Given the description of an element on the screen output the (x, y) to click on. 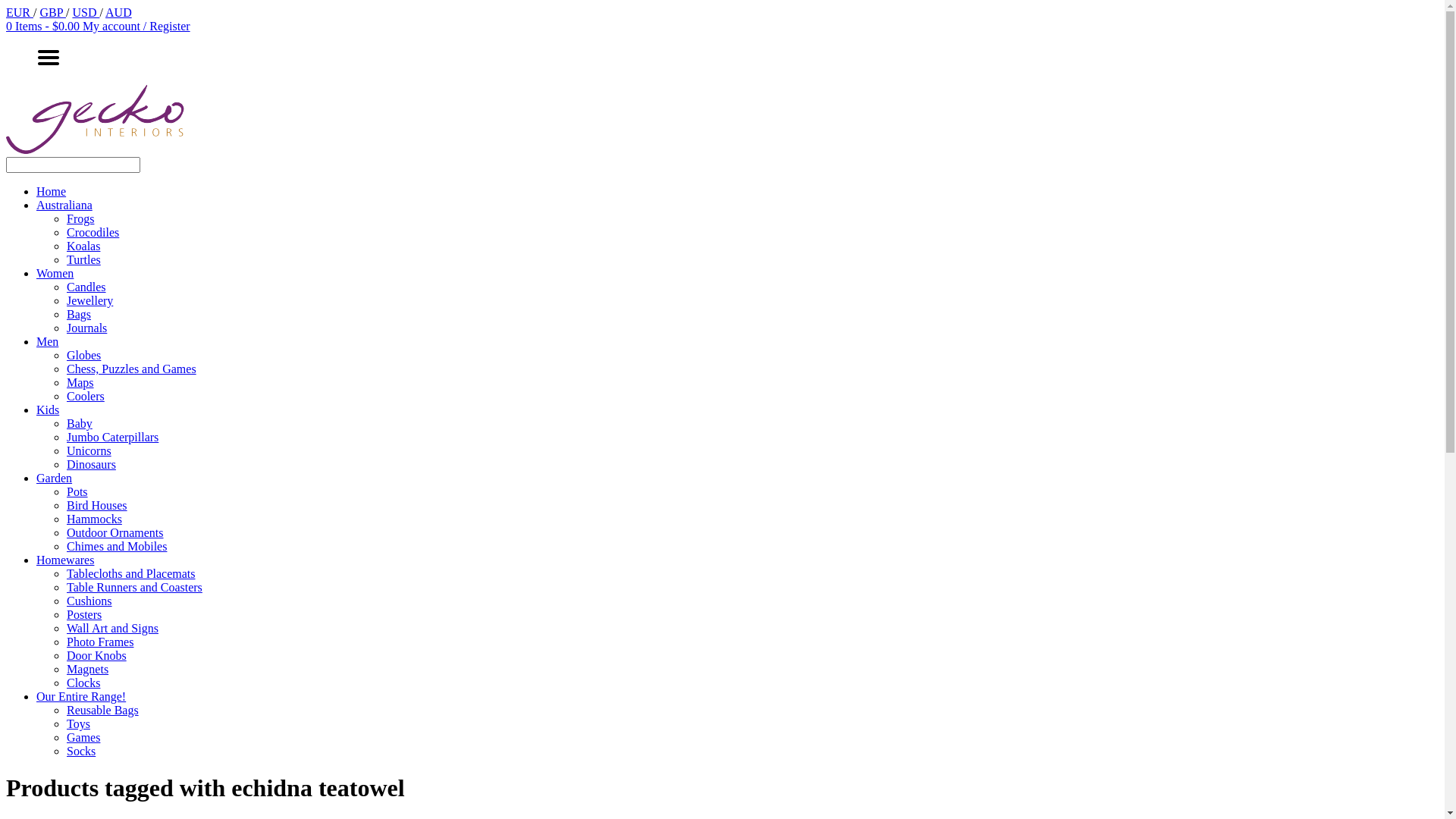
Jewellery Element type: text (89, 300)
My account / Register Element type: text (136, 25)
USD Element type: text (85, 12)
Photo Frames Element type: text (99, 641)
Chess, Puzzles and Games Element type: text (131, 368)
Turtles Element type: text (83, 259)
Men Element type: text (47, 341)
Toys Element type: text (78, 723)
Candles Element type: text (86, 286)
Frogs Element type: text (80, 218)
Cushions Element type: text (89, 600)
Australiana Element type: text (64, 204)
Clocks Element type: text (83, 682)
Baby Element type: text (79, 423)
Unicorns Element type: text (88, 450)
Homewares Element type: text (65, 559)
Kids Element type: text (47, 409)
Magnets Element type: text (87, 668)
Our Entire Range! Element type: text (80, 696)
Chimes and Mobiles Element type: text (116, 545)
Posters Element type: text (83, 614)
GBP Element type: text (52, 12)
Wall Art and Signs Element type: text (112, 627)
Jumbo Caterpillars Element type: text (112, 436)
EUR Element type: text (19, 12)
Bird Houses Element type: text (96, 504)
Hammocks Element type: text (94, 518)
Garden Element type: text (54, 477)
Home Element type: text (50, 191)
Pots Element type: text (76, 491)
Crocodiles Element type: text (92, 231)
Games Element type: text (83, 737)
Socks Element type: text (80, 750)
Reusable Bags Element type: text (102, 709)
Bags Element type: text (78, 313)
0 Items - $0.00 Element type: text (44, 25)
Door Knobs Element type: text (96, 655)
Coolers Element type: text (85, 395)
Colourful, quality homewares & fun, affordable gifts. Element type: hover (98, 149)
Table Runners and Coasters Element type: text (134, 586)
Maps Element type: text (80, 382)
Dinosaurs Element type: text (91, 464)
Women Element type: text (54, 272)
Tablecloths and Placemats Element type: text (130, 573)
AUD Element type: text (118, 12)
Outdoor Ornaments Element type: text (114, 532)
Journals Element type: text (86, 327)
Koalas Element type: text (83, 245)
Globes Element type: text (83, 354)
